Given the description of an element on the screen output the (x, y) to click on. 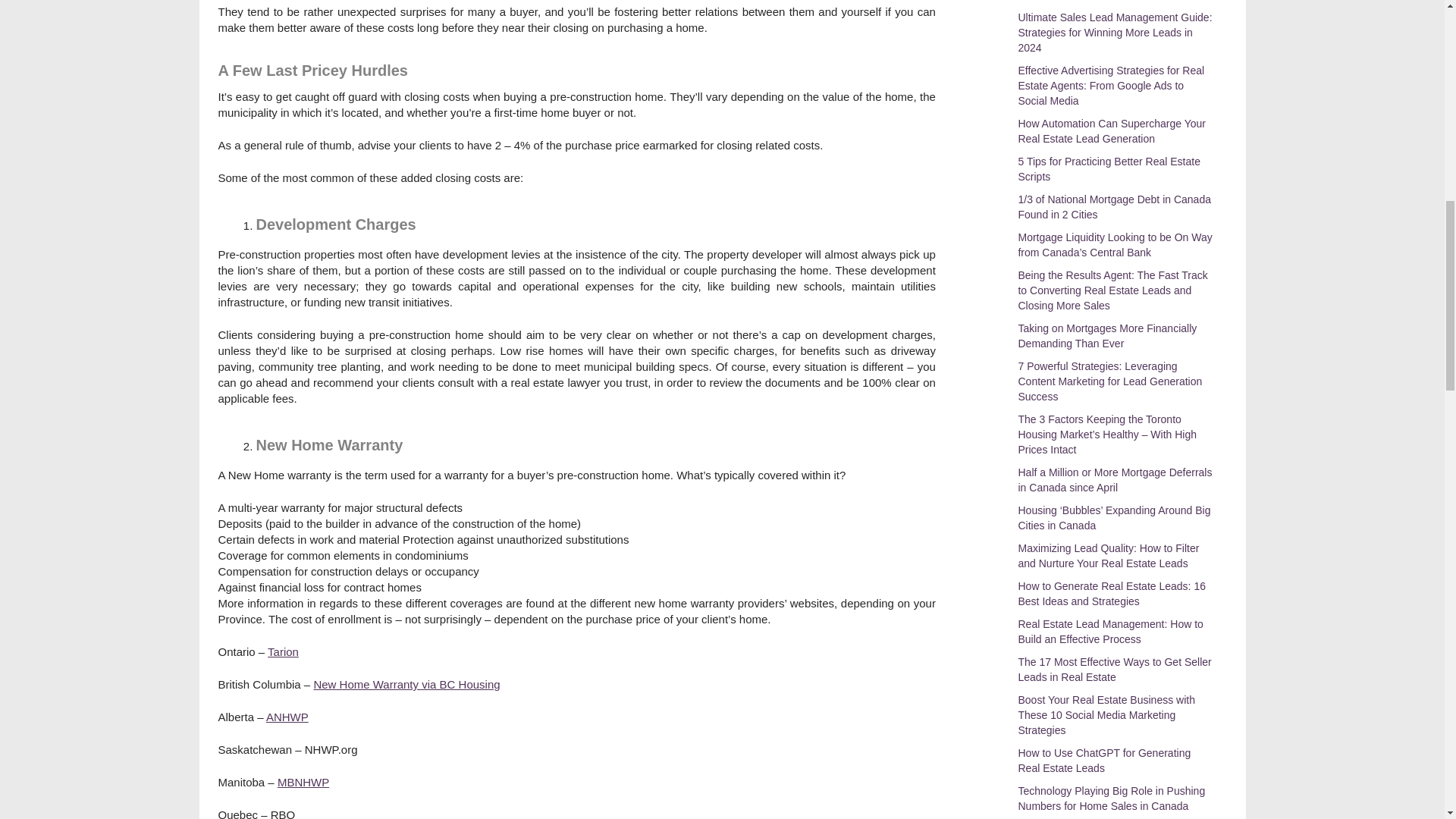
ANHWP (287, 716)
New Home Warranty via BC Housing (406, 684)
Tarion (282, 651)
MBNHWP (303, 781)
